Given the description of an element on the screen output the (x, y) to click on. 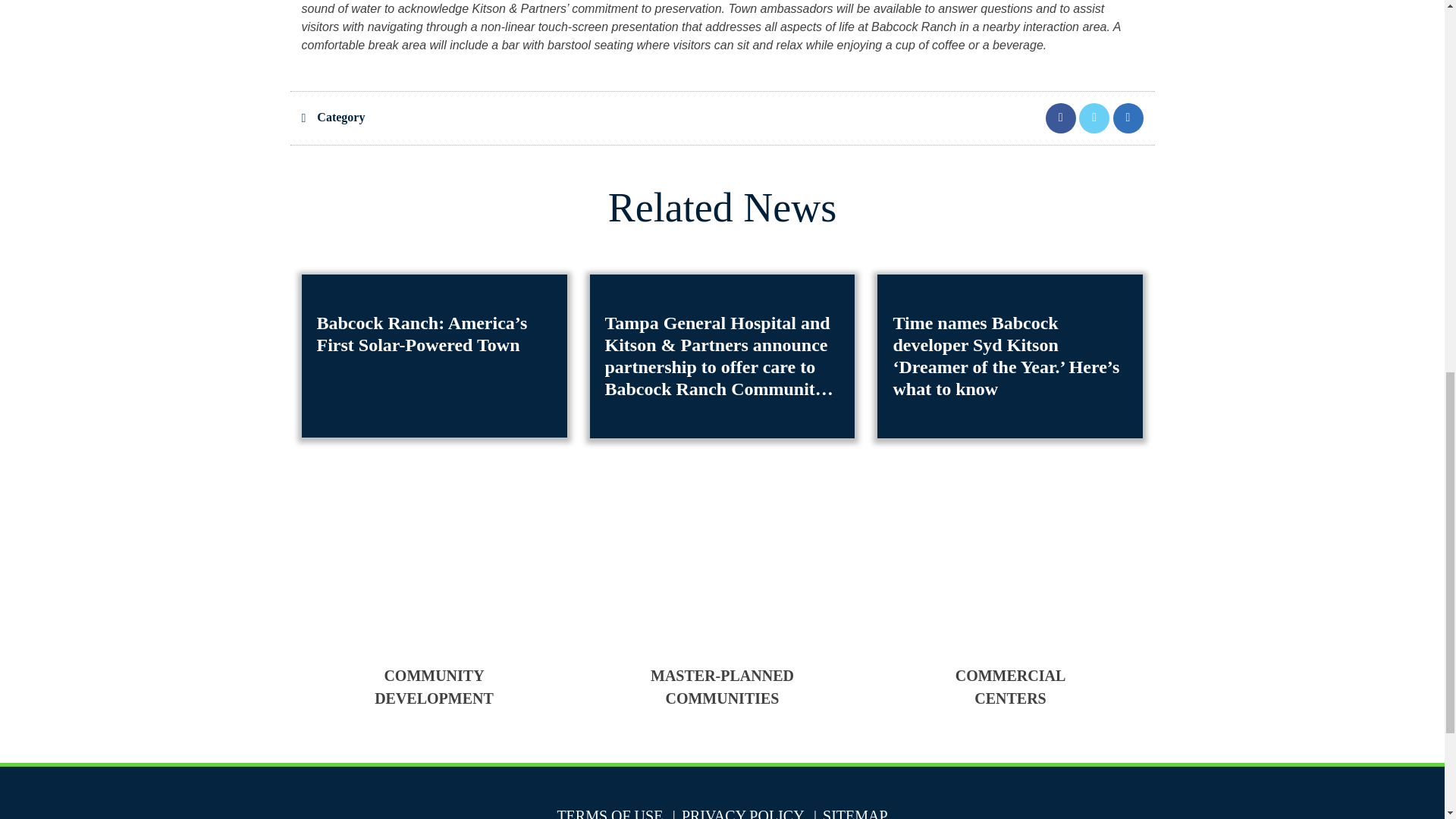
TERMS OF USE (609, 813)
Linkedin Share (1127, 116)
Twitter Share (1095, 116)
Facebook Share (1061, 116)
PRIVACY POLICY (735, 813)
SITEMAP (848, 813)
